Given the description of an element on the screen output the (x, y) to click on. 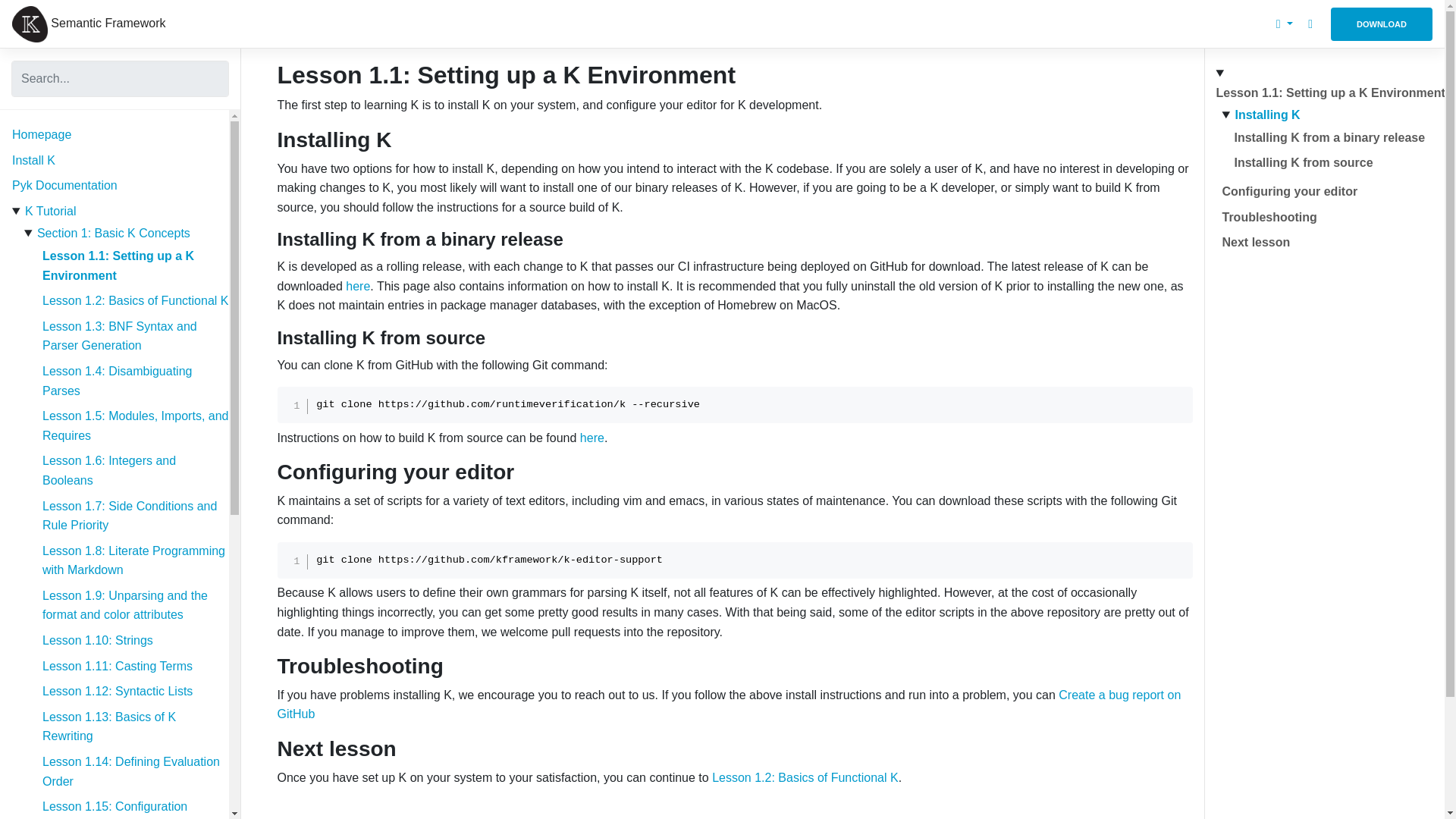
Lesson 1.11: Casting Terms (117, 666)
Lesson 1.9: Unparsing and the format and color attributes (125, 604)
Homepage (41, 133)
Lesson 1.8: Literate Programming with Markdown (133, 560)
Lesson 1.13: Basics of K Rewriting (109, 726)
Lesson 1.4: Disambiguating Parses (117, 380)
K Tutorial (50, 210)
Section 1: Basic K Concepts (113, 232)
Lesson 1.14: Defining Evaluation Order (130, 771)
Lesson 1.6: Integers and Booleans (109, 470)
